Given the description of an element on the screen output the (x, y) to click on. 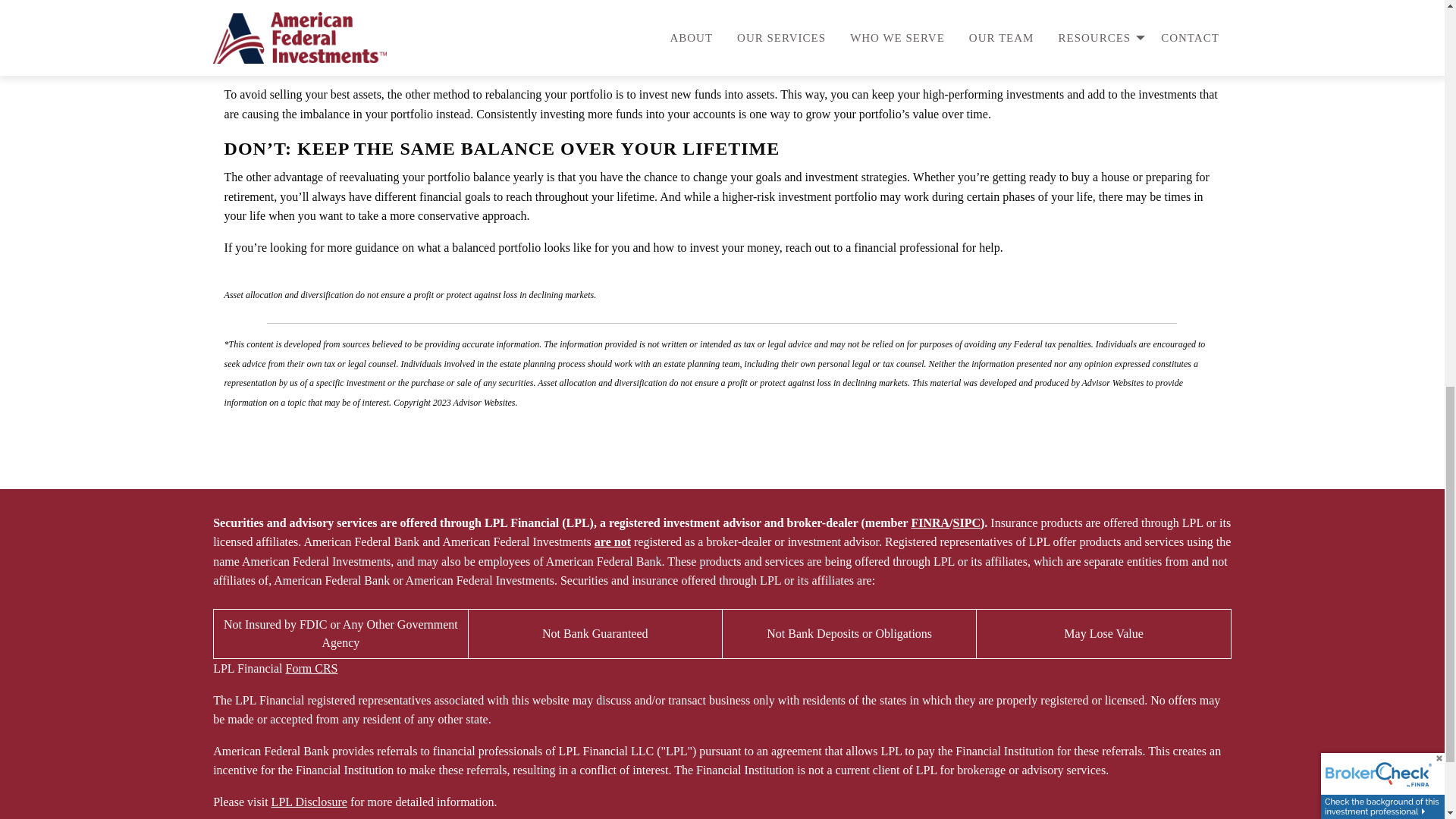
SIPC (966, 522)
LPL Disclosure (308, 801)
LPL Disclosure (308, 801)
Form CRS (311, 667)
SIPC (966, 522)
FINRA (930, 522)
FINRA (930, 522)
